Given the description of an element on the screen output the (x, y) to click on. 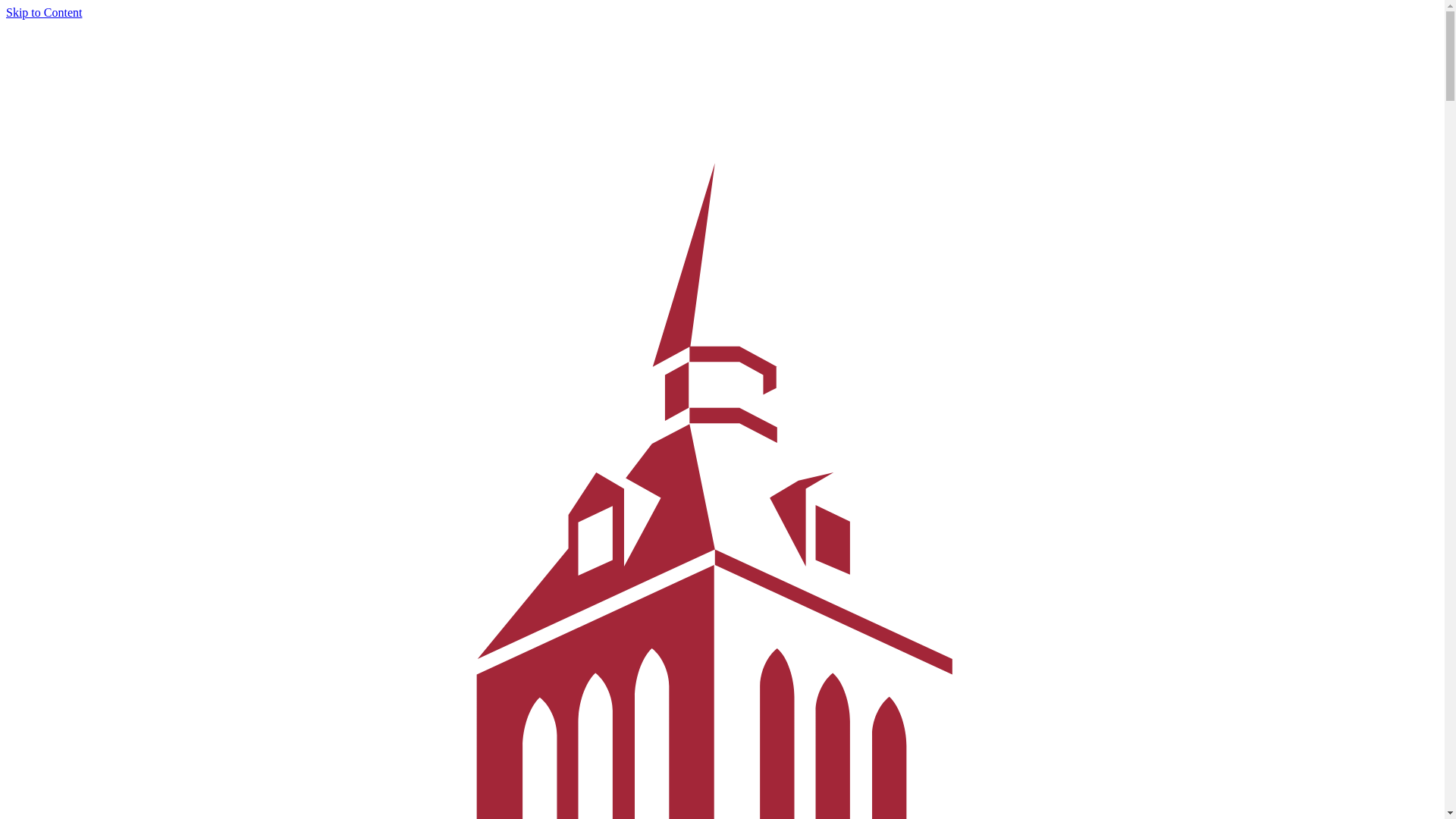
Skip to Content (43, 11)
